Given the description of an element on the screen output the (x, y) to click on. 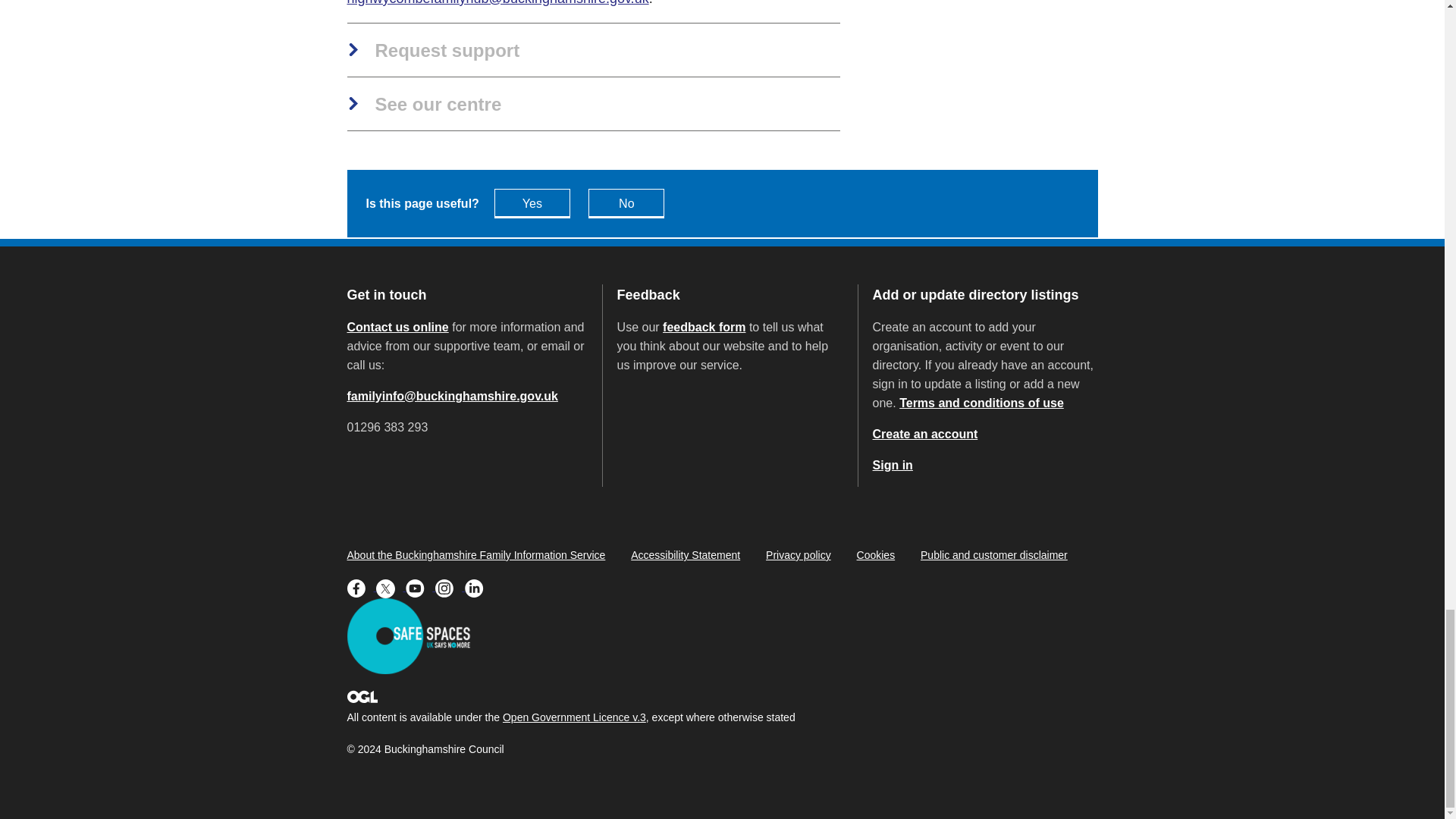
Request support (433, 51)
See our centre (424, 105)
Create an account (925, 433)
Terms and conditions of use (981, 402)
Sign in (892, 464)
About the Buckinghamshire Family Information Service (476, 554)
No (625, 203)
Yes (532, 203)
Accessibility Statement (684, 554)
feedback form (703, 327)
